Given the description of an element on the screen output the (x, y) to click on. 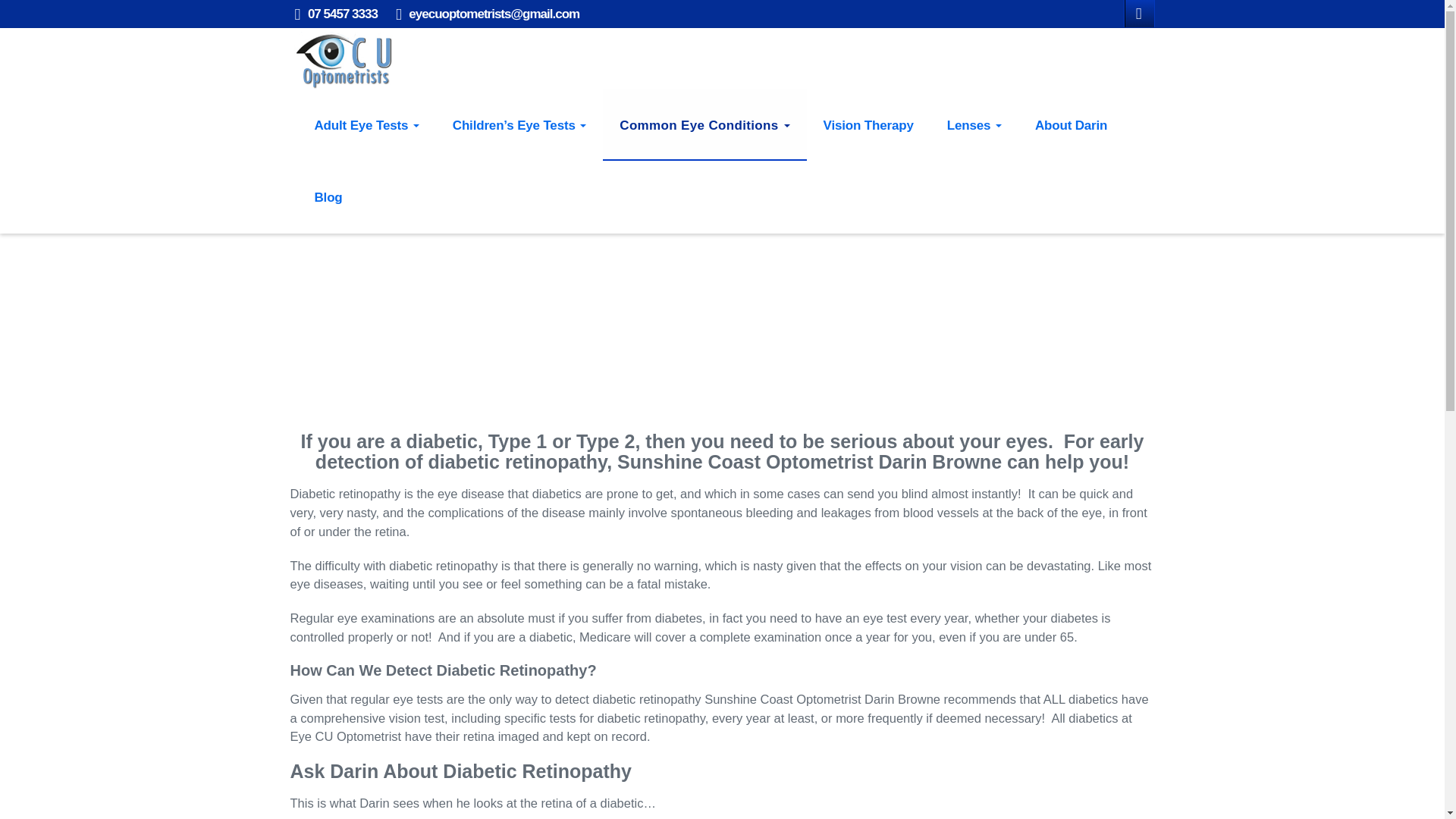
Common Eye Conditions (704, 124)
Eye CU Optometrist (343, 57)
Common Eye Conditions (704, 124)
Adult Eye Tests (366, 124)
Children's Eye Tests (519, 124)
Vision Therapy (868, 124)
07 5457 3333 (342, 13)
Vision Therapy (868, 124)
Lenses (973, 124)
Adult Eye Tests (366, 124)
